Given the description of an element on the screen output the (x, y) to click on. 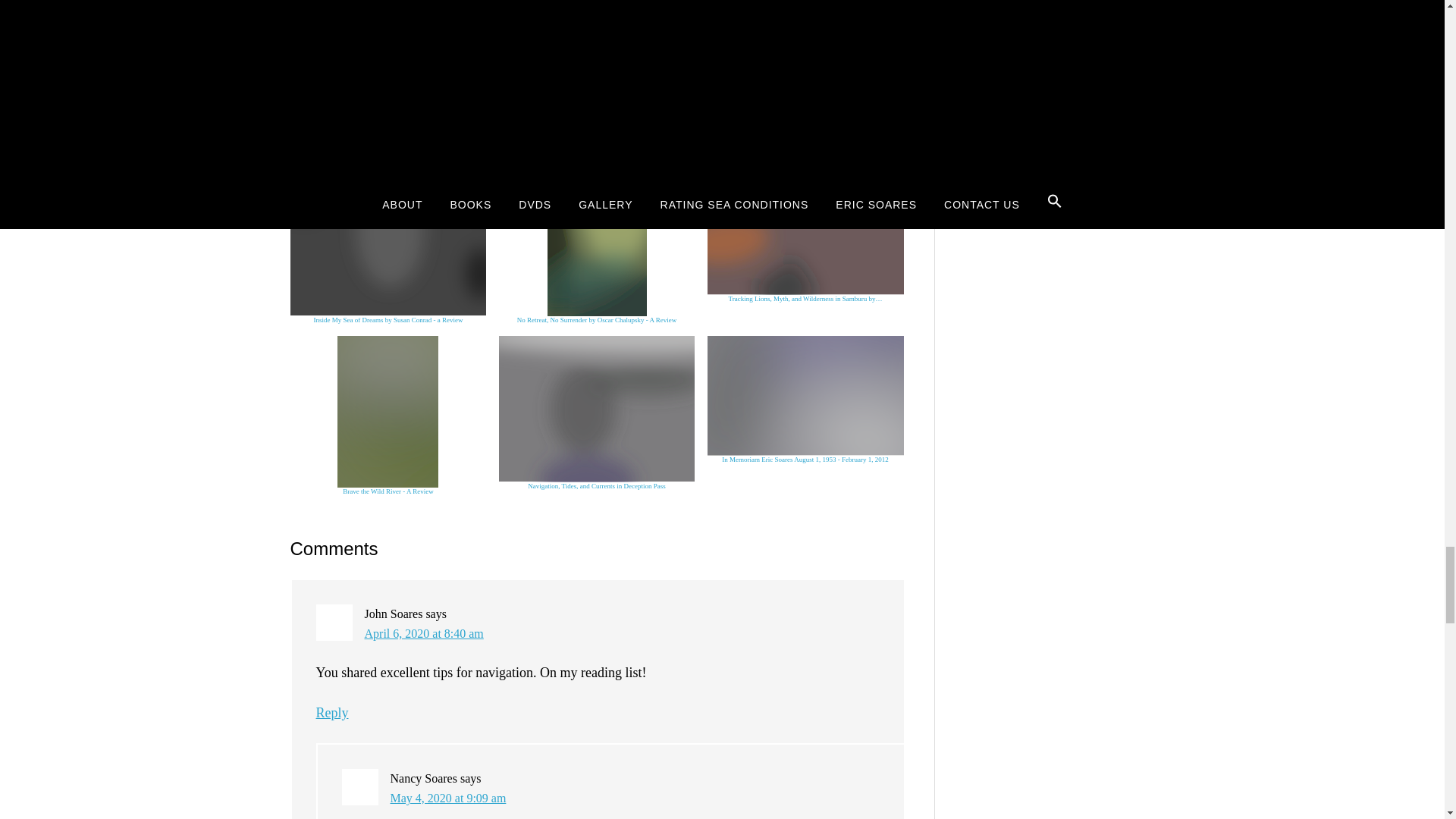
Inside My Sea of Dreams by Susan Conrad - a Review (387, 240)
In Memoriam Eric Soares August 1, 1953 - February 1, 2012 (805, 395)
Follow us (810, 114)
May 4, 2020 at 9:09 am (447, 797)
Inside My Sea of Dreams by Susan Conrad - a Review (387, 244)
In Memoriam Eric Soares August 1, 1953 - February 1, 2012 (805, 400)
Navigation, Tides, and Currents in Deception Pass (597, 409)
Brave the Wild River - A Review (387, 415)
Navigation, Tides, and Currents in Deception Pass (597, 413)
Share on Facebook (415, 114)
